Given the description of an element on the screen output the (x, y) to click on. 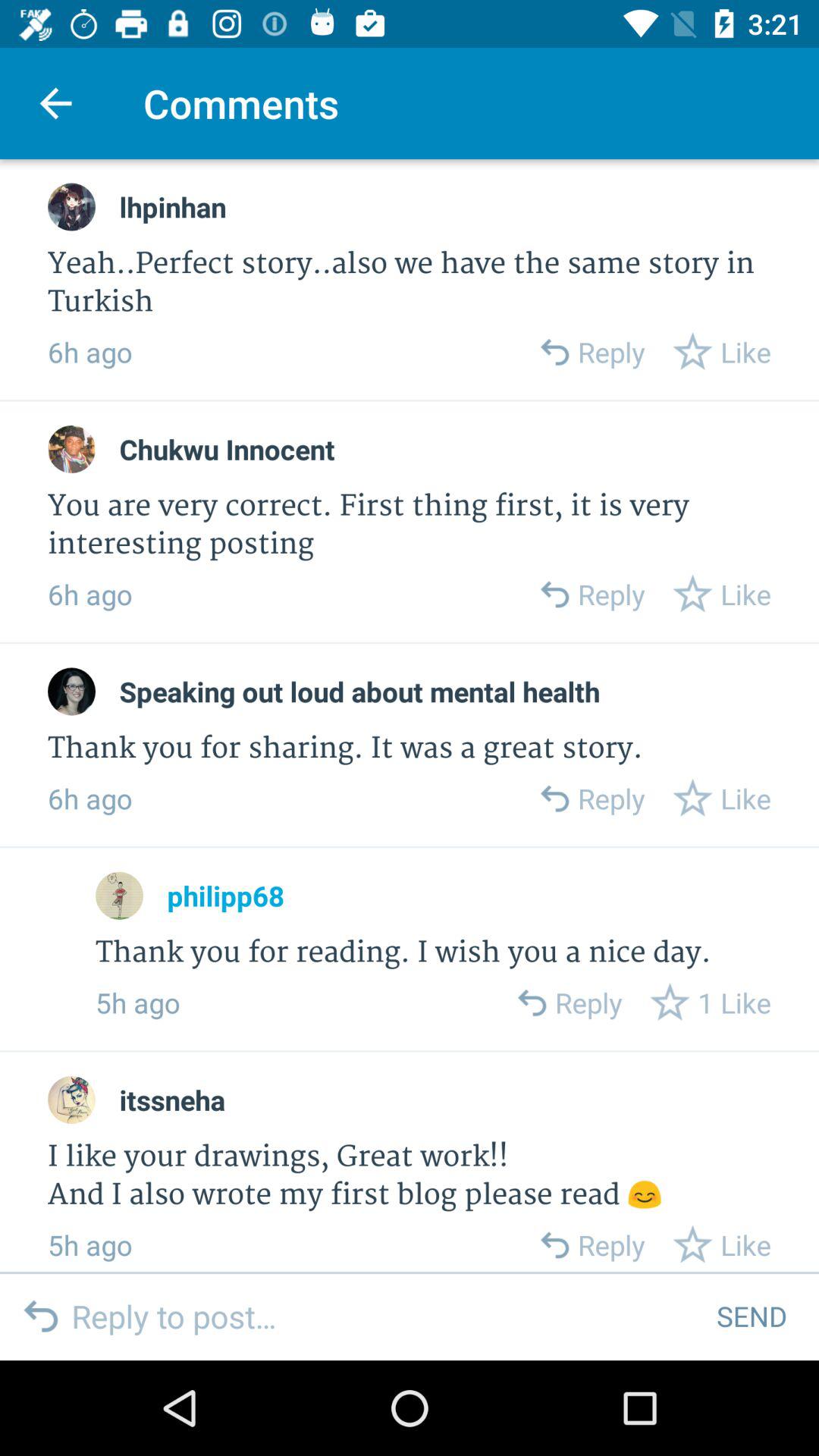
reply to post (381, 1315)
